Given the description of an element on the screen output the (x, y) to click on. 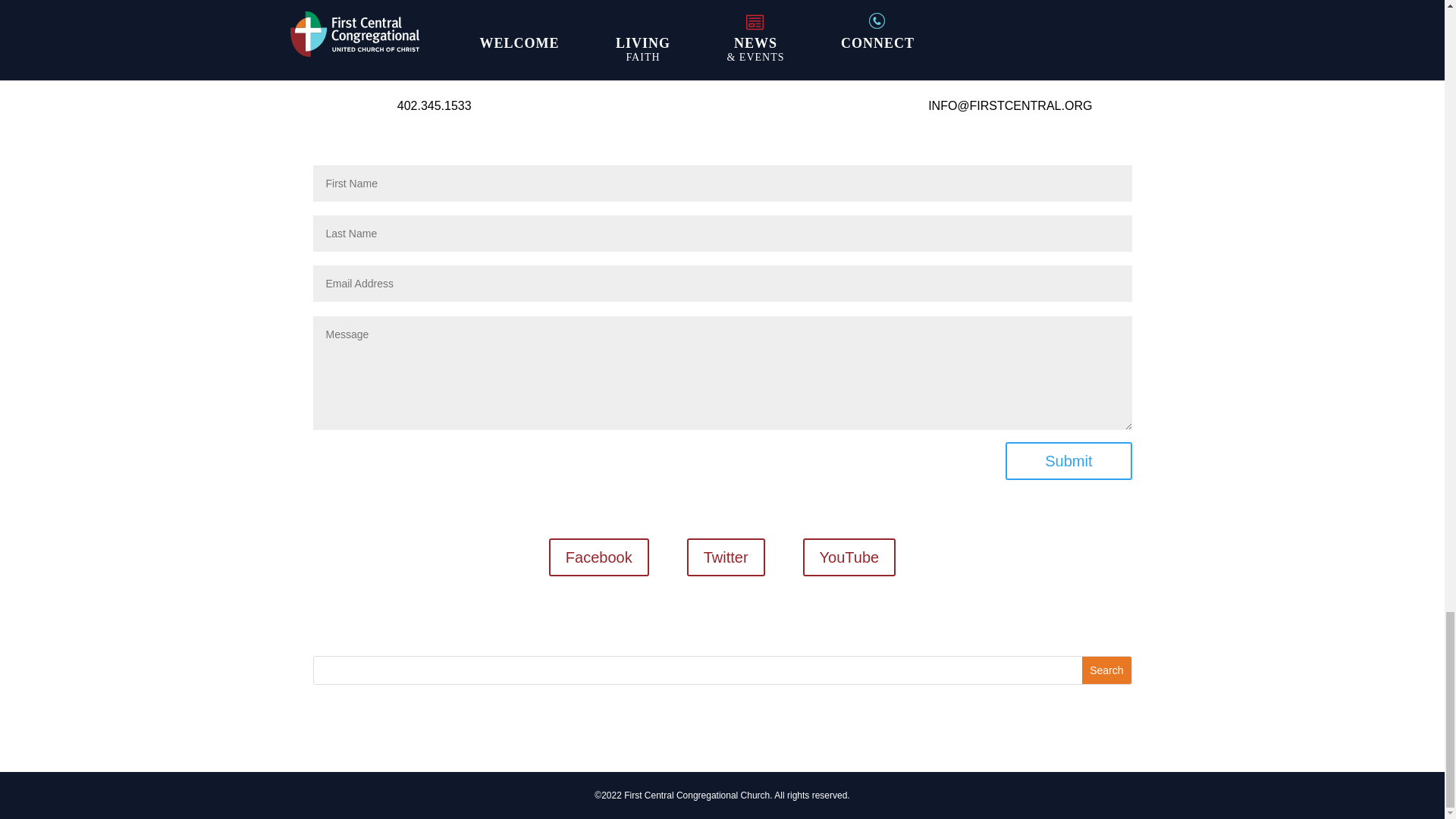
Twitter (726, 557)
Search (1106, 669)
Submit (1068, 460)
Search (1106, 669)
Facebook (598, 557)
